Given the description of an element on the screen output the (x, y) to click on. 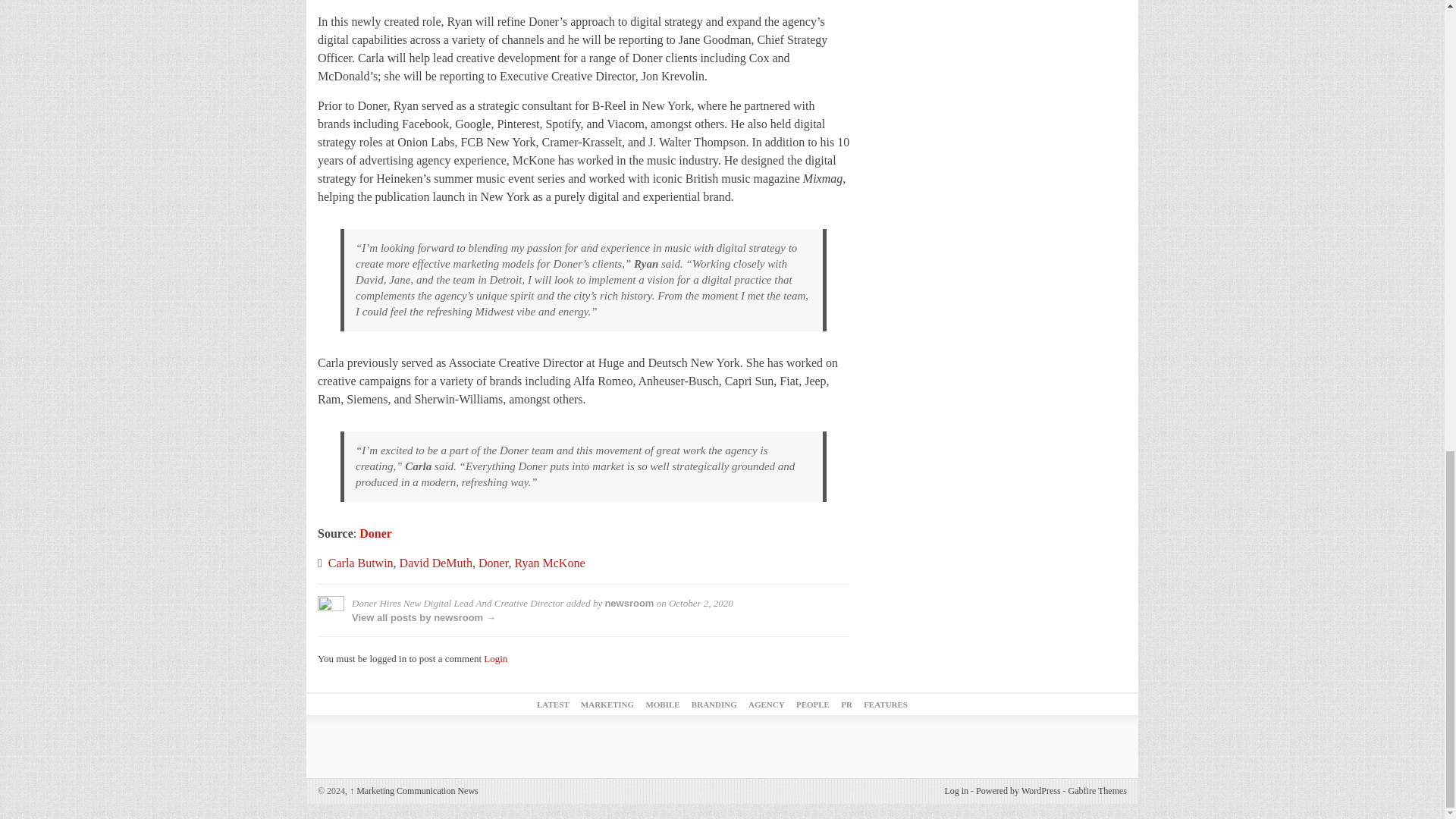
Doner (493, 562)
Doner (375, 533)
Carla Butwin (361, 562)
Marketing Communication News (414, 790)
Ryan McKone (549, 562)
David DeMuth (434, 562)
